Given the description of an element on the screen output the (x, y) to click on. 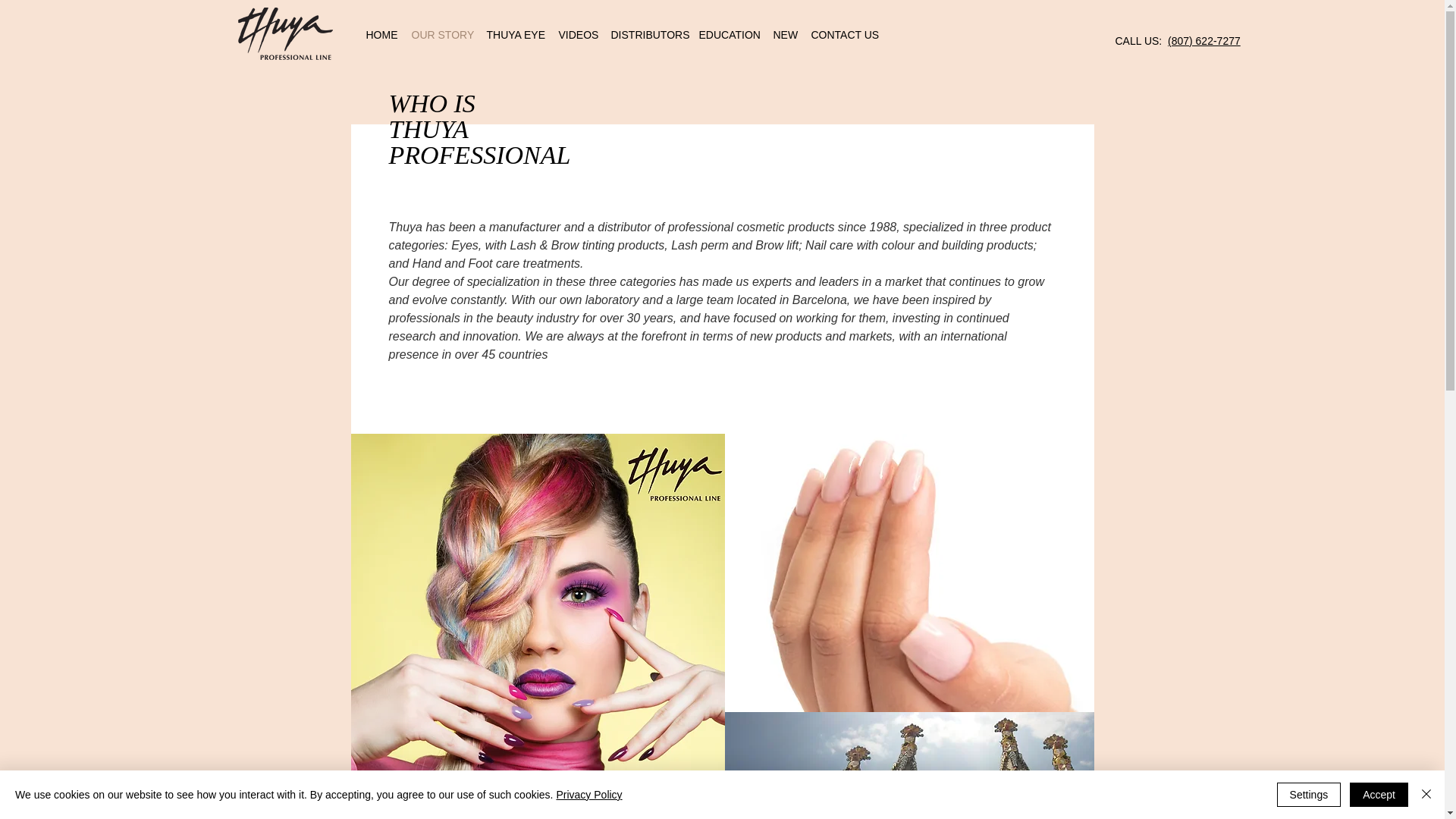
HOME (380, 34)
Settings (1308, 794)
NEW (784, 34)
DISTRIBUTORS (647, 34)
Accept (1378, 794)
Privacy Policy (588, 794)
CONTACT US (843, 34)
THUYA EYE (515, 34)
VIDEOS (576, 34)
EDUCATION (728, 34)
